Given the description of an element on the screen output the (x, y) to click on. 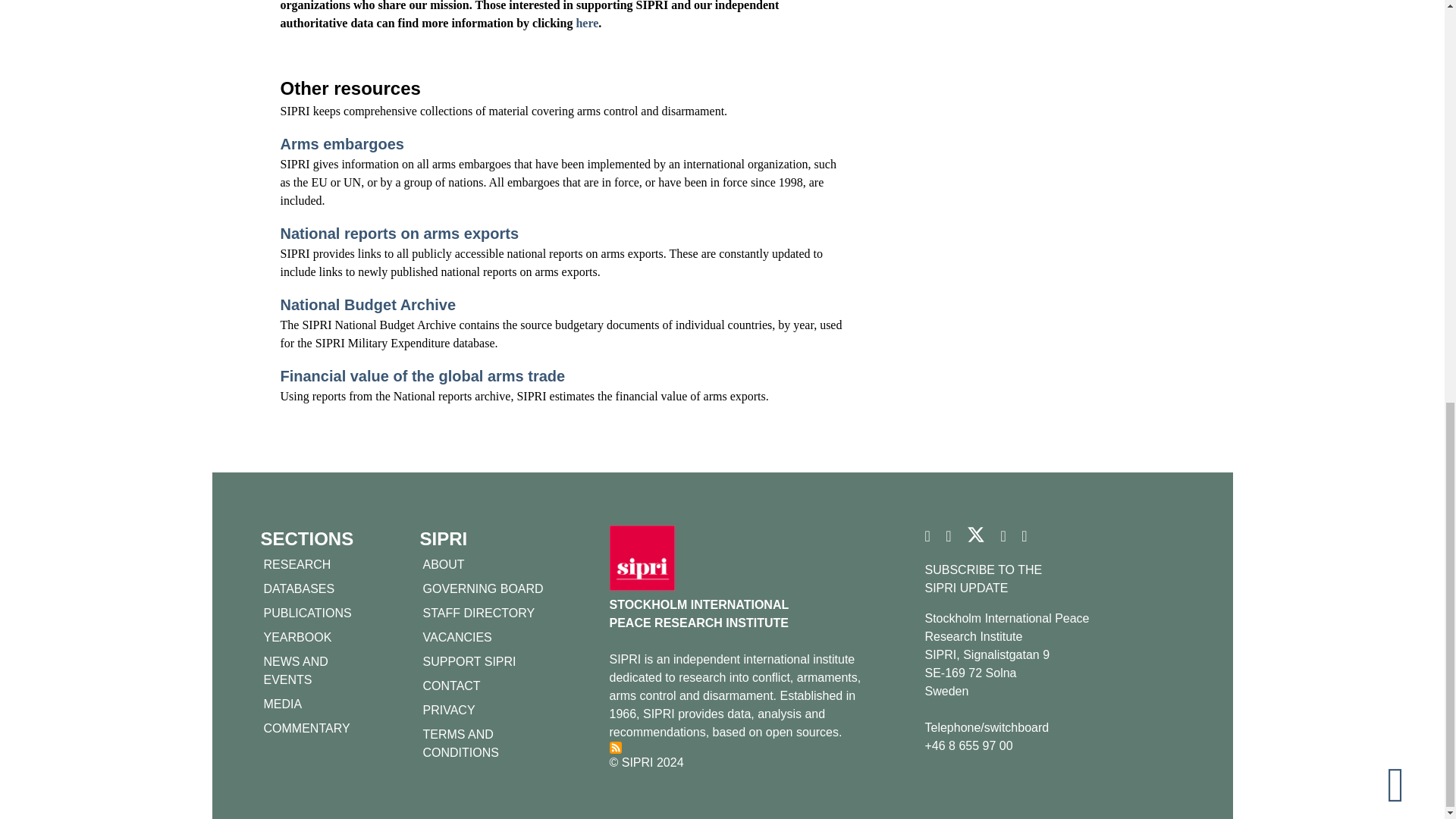
SIPRI RSS feed (615, 747)
Follow us on Twitter (975, 539)
Click to return to the top of the page (1408, 4)
